Given the description of an element on the screen output the (x, y) to click on. 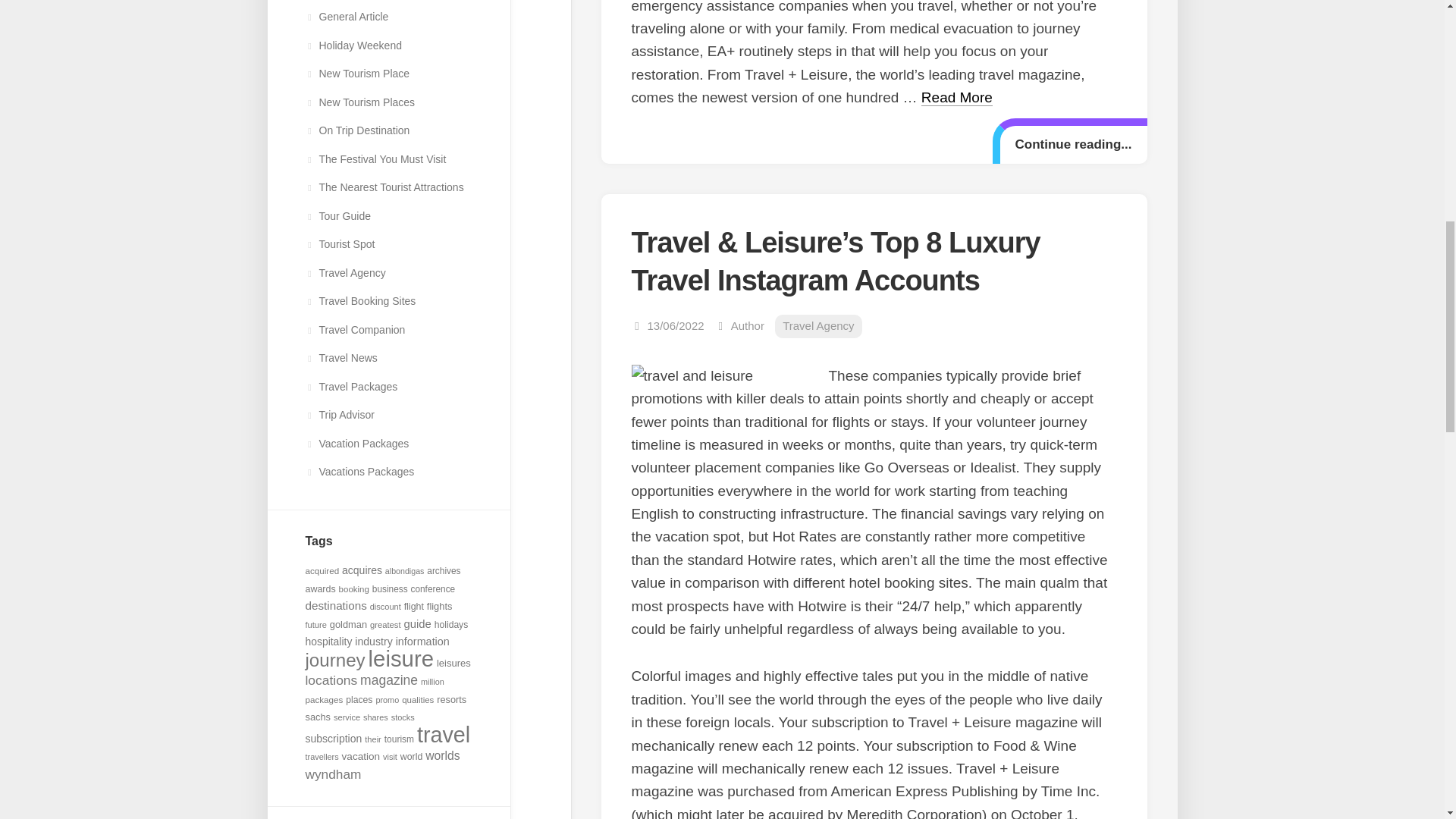
Posts by Author (747, 325)
